Given the description of an element on the screen output the (x, y) to click on. 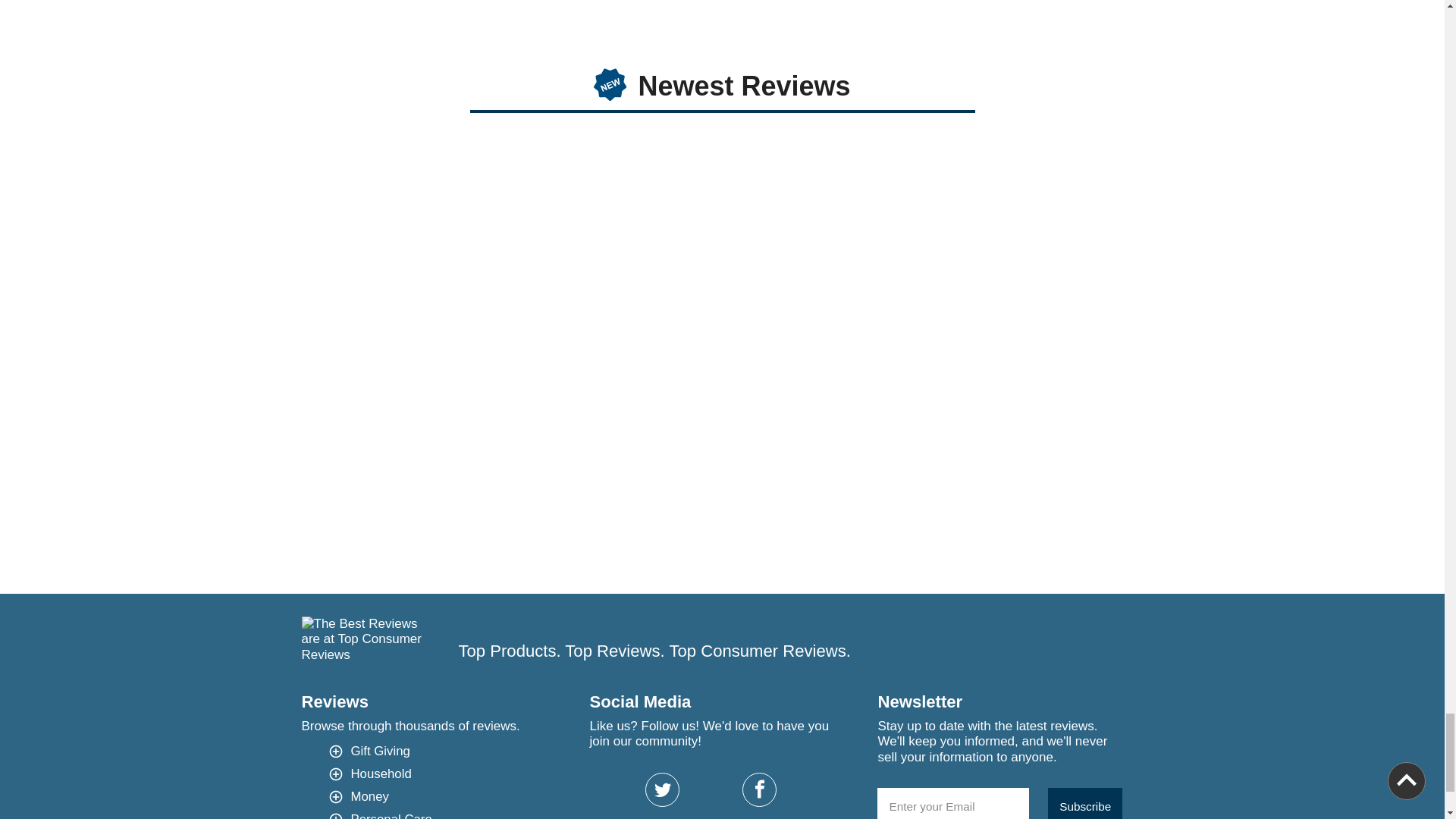
Visit Top Consumer Reviews on Facebook (759, 789)
Visit Top Consumer Reviews on Twitter (662, 789)
